Given the description of an element on the screen output the (x, y) to click on. 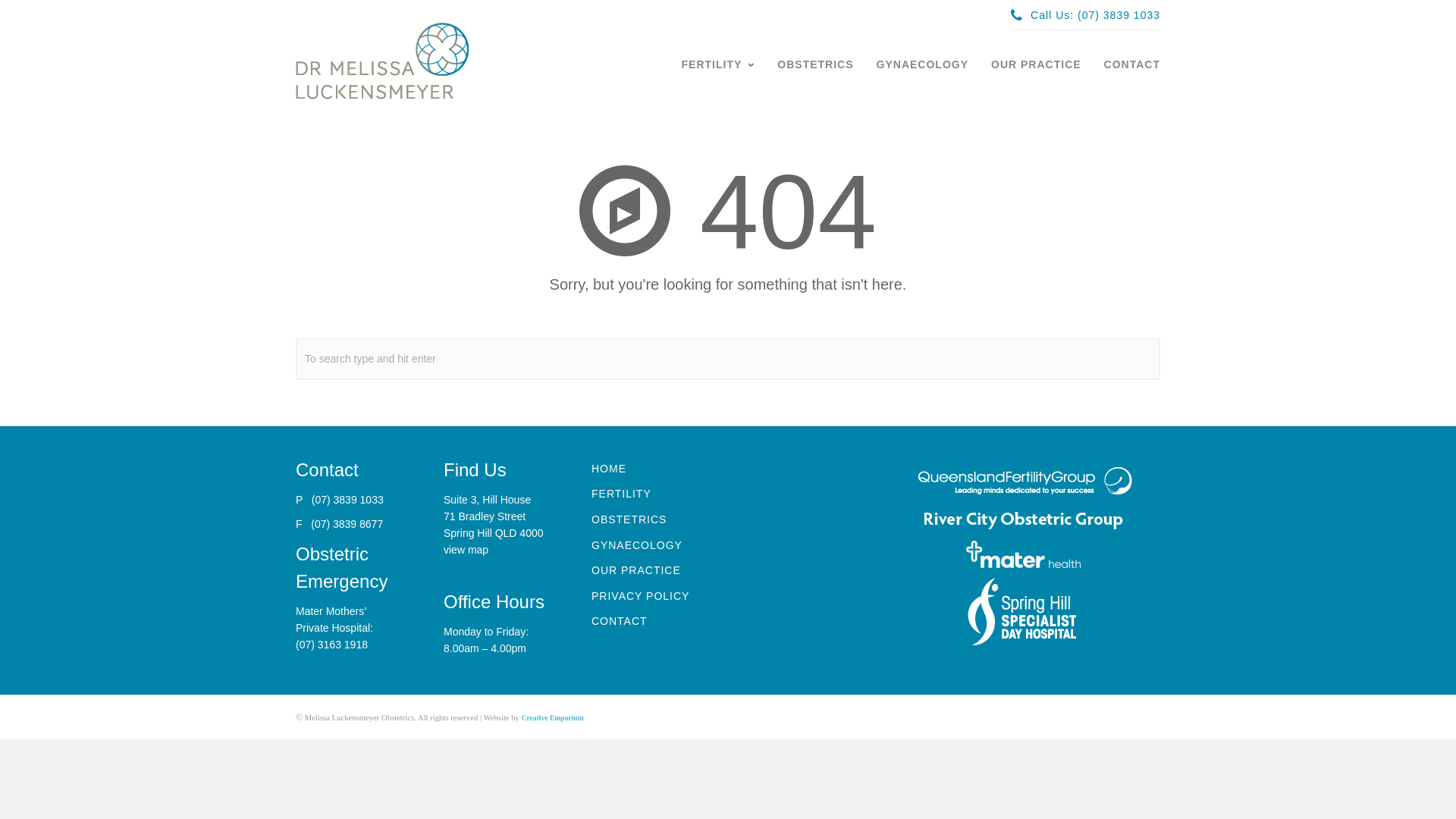
FERTILITY Element type: text (621, 493)
(07) 3163 1918 Element type: text (331, 644)
OUR PRACTICE Element type: text (635, 570)
OBSTETRICS Element type: text (815, 64)
Call Us: (07) 3839 1033 Element type: text (1085, 15)
CONTACT Element type: text (619, 621)
GYNAECOLOGY Element type: text (636, 545)
HOME Element type: text (608, 468)
CONTACT Element type: text (1132, 64)
OBSTETRICS Element type: text (628, 519)
OUR PRACTICE Element type: text (1036, 64)
FERTILITY Element type: text (718, 64)
PRIVACY POLICY Element type: text (640, 595)
Creative Emporium Element type: text (552, 717)
view map Element type: text (465, 549)
GYNAECOLOGY Element type: text (922, 64)
(07) 3839 1033 Element type: text (347, 499)
